Given the description of an element on the screen output the (x, y) to click on. 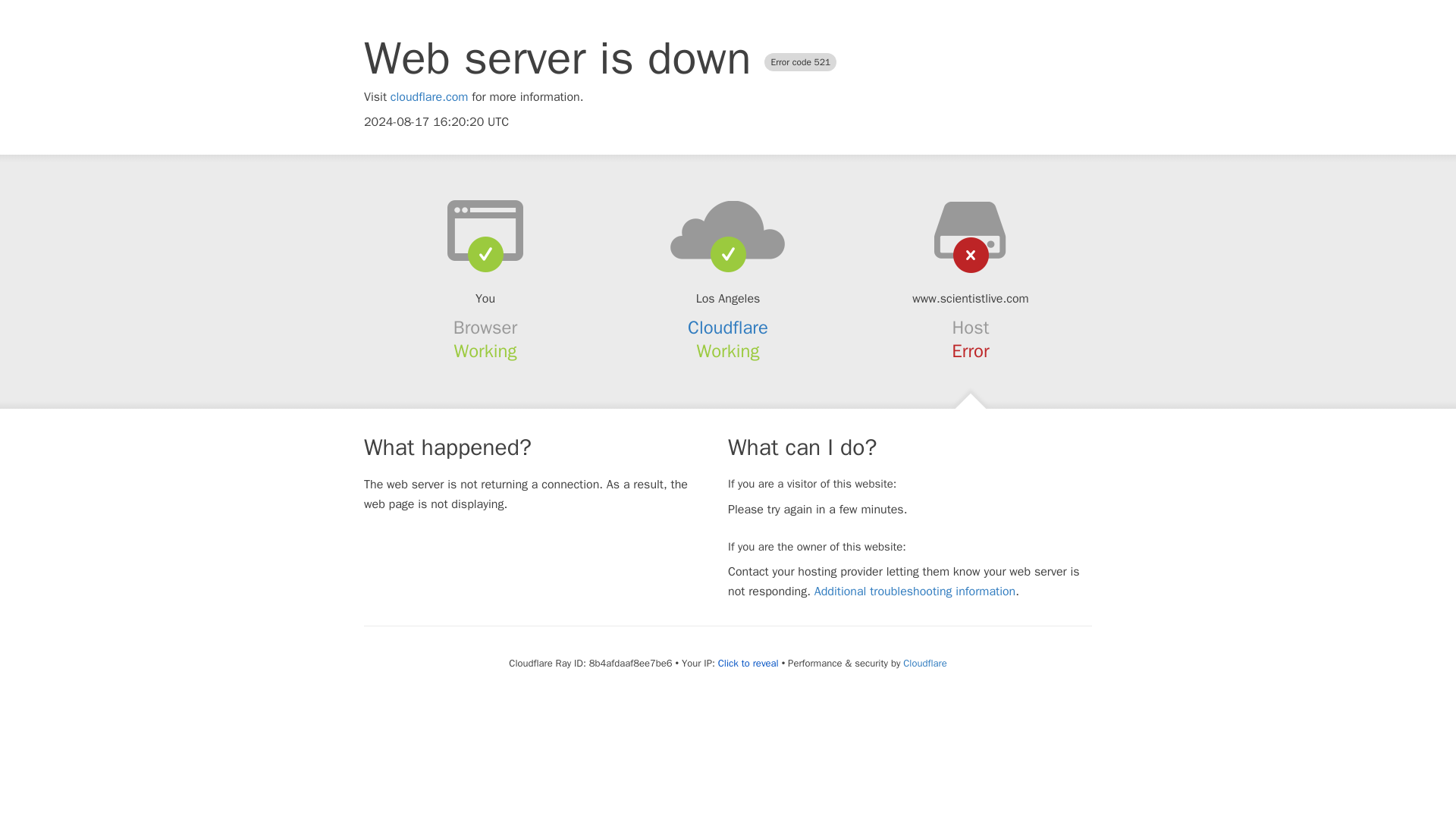
cloudflare.com (429, 96)
Cloudflare (727, 327)
Additional troubleshooting information (913, 590)
Cloudflare (924, 662)
Click to reveal (747, 663)
